Given the description of an element on the screen output the (x, y) to click on. 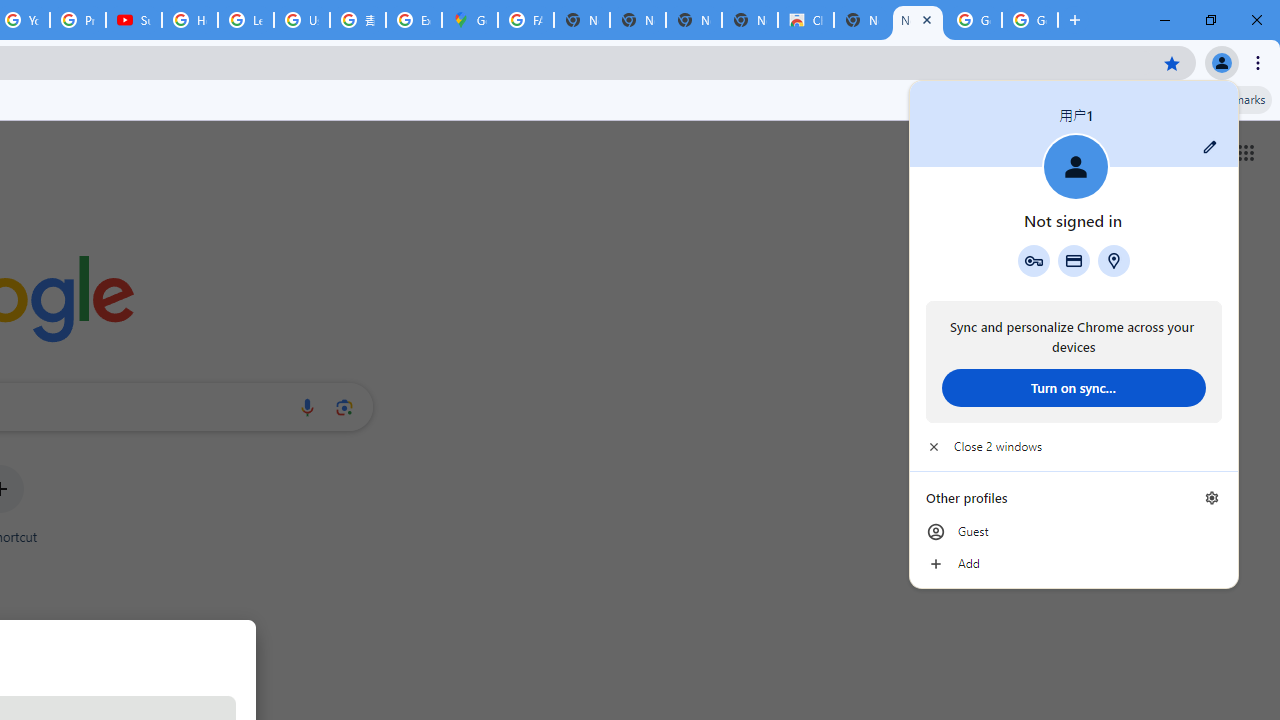
Manage profiles (1211, 498)
Payment methods (1074, 260)
Explore new street-level details - Google Maps Help (413, 20)
Chrome Web Store (806, 20)
Add (1073, 563)
Subscriptions - YouTube (134, 20)
New Tab (917, 20)
